Given the description of an element on the screen output the (x, y) to click on. 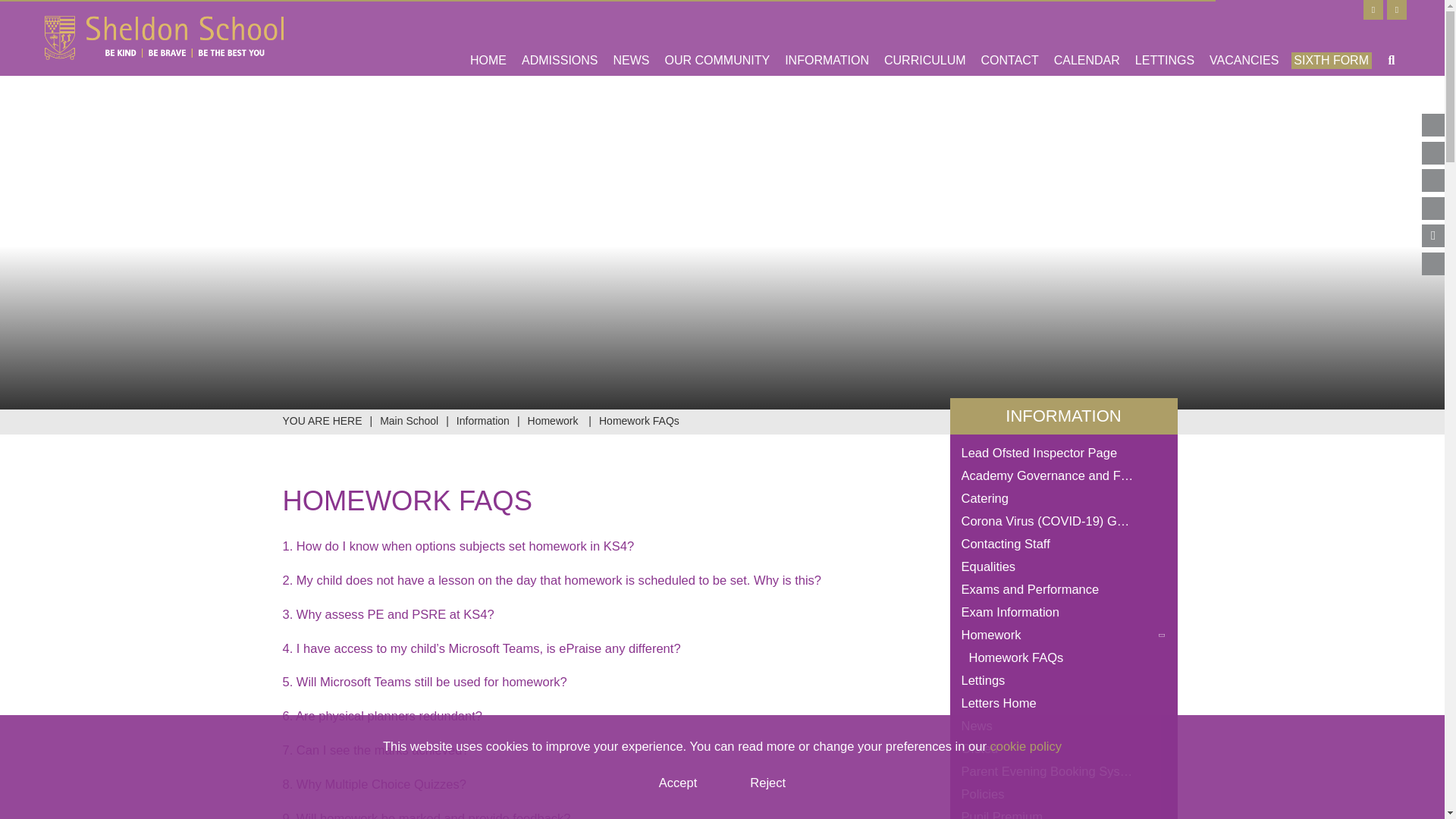
INFORMATION (826, 38)
Our Community (716, 38)
ADMISSIONS (559, 38)
Admissions (559, 38)
OUR COMMUNITY (716, 38)
